Given the description of an element on the screen output the (x, y) to click on. 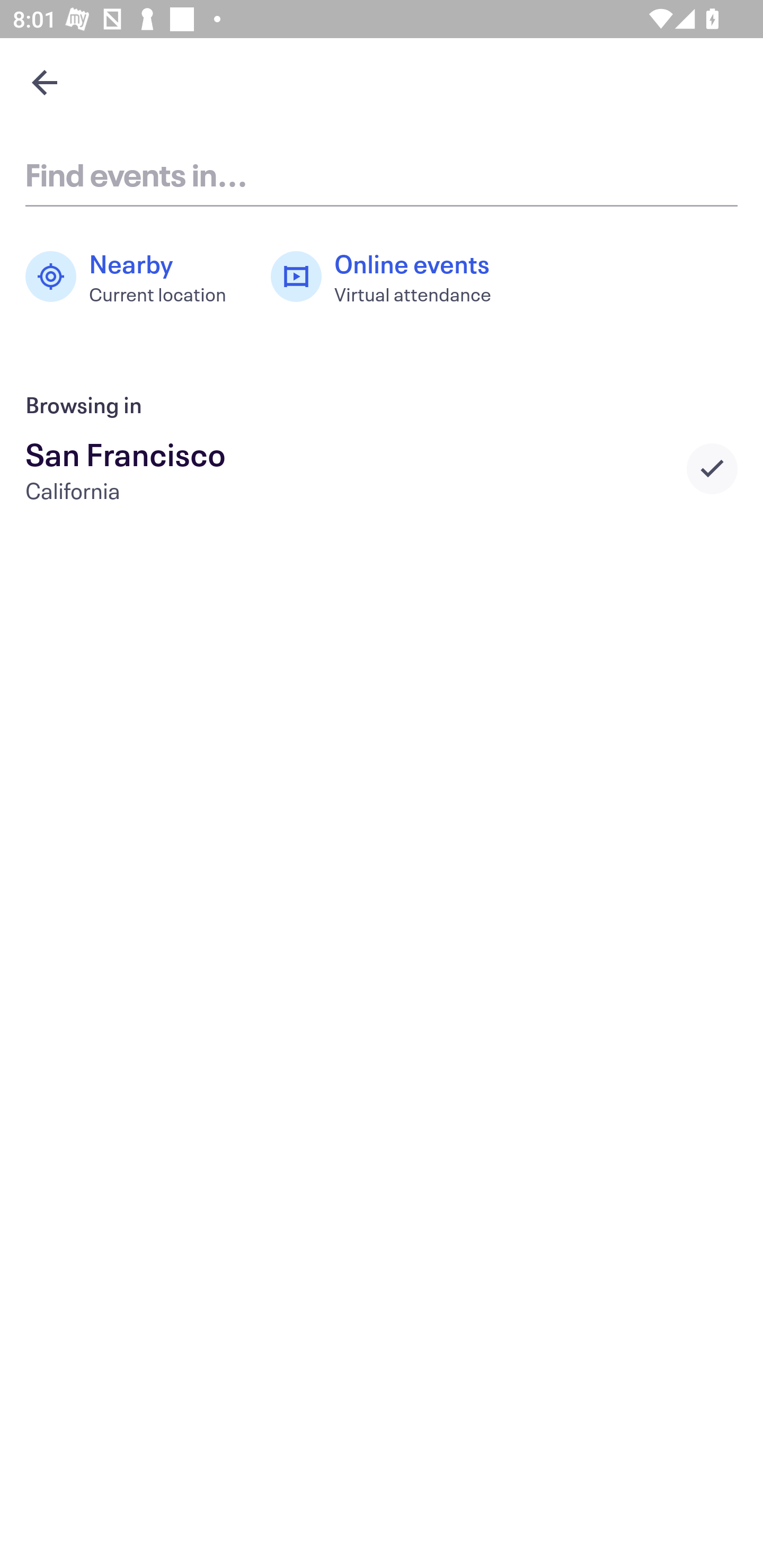
Navigate up (44, 82)
Find events in... (381, 173)
Nearby Current location (135, 276)
Online events Virtual attendance (390, 276)
San Francisco California Selected city (381, 468)
